Given the description of an element on the screen output the (x, y) to click on. 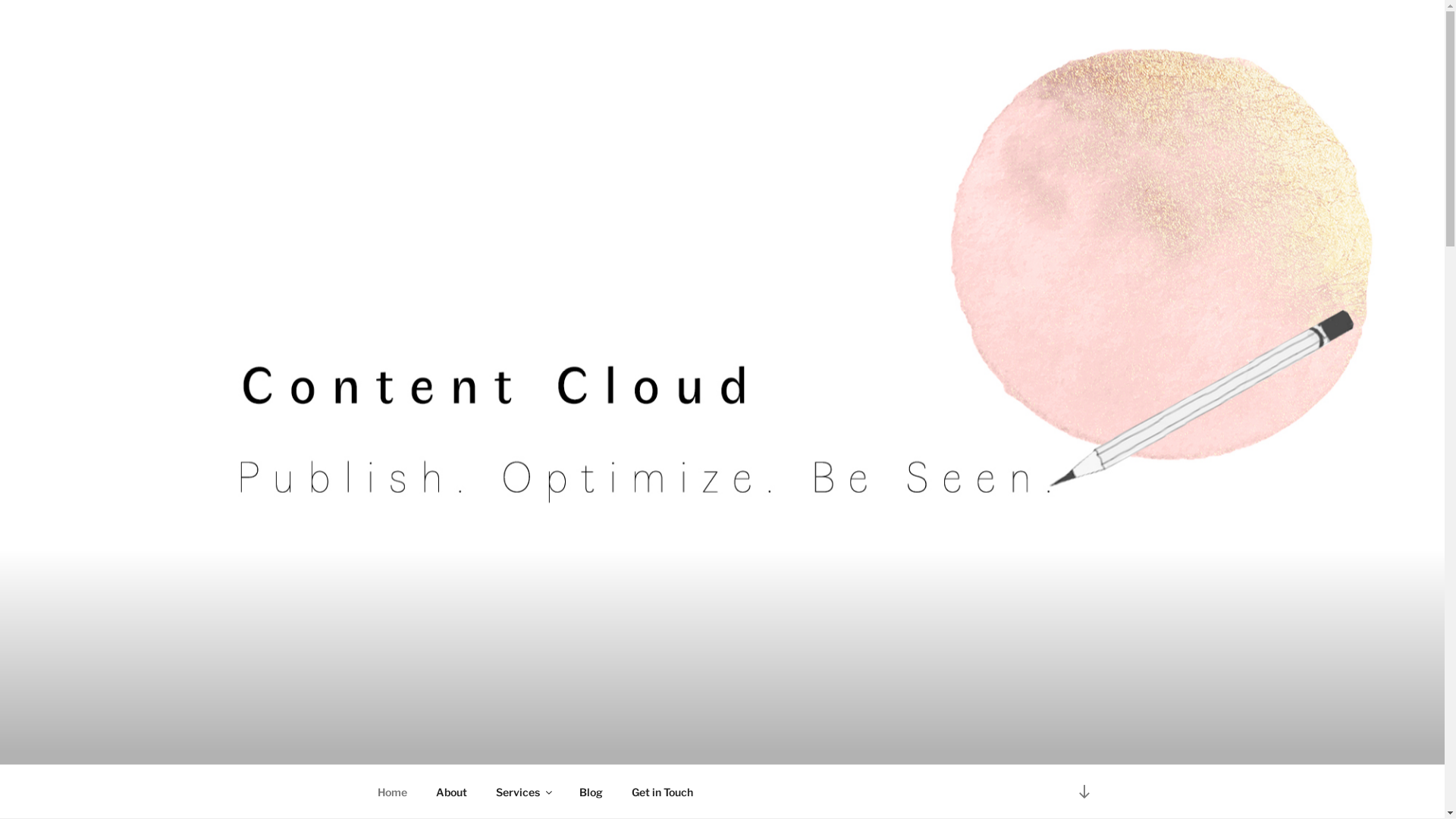
Get in Touch Element type: text (662, 791)
CONTENT CLOUD Element type: text (513, 744)
Scroll down to content Element type: text (1083, 790)
Home Element type: text (392, 791)
Blog Element type: text (590, 791)
Services Element type: text (522, 791)
About Element type: text (451, 791)
